Given the description of an element on the screen output the (x, y) to click on. 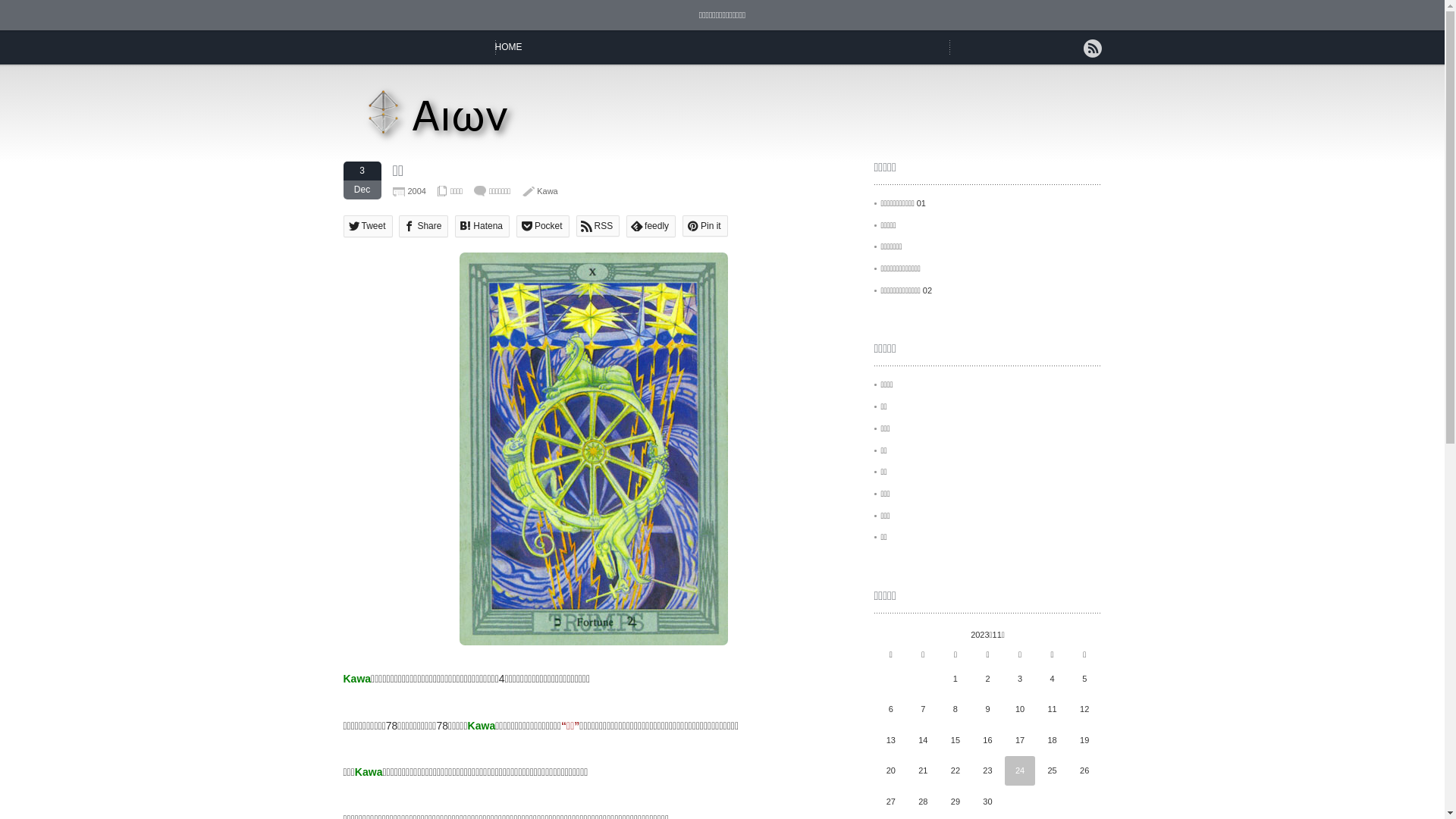
Hatena Element type: text (482, 226)
Share Element type: text (423, 226)
Tweet Element type: text (367, 226)
Pocket Element type: text (542, 226)
feedly Element type: text (650, 226)
Kawa Element type: text (547, 190)
HOME Element type: text (507, 47)
RSS Element type: text (598, 225)
Pin it Element type: text (705, 225)
rss Element type: hover (1091, 48)
